Given the description of an element on the screen output the (x, y) to click on. 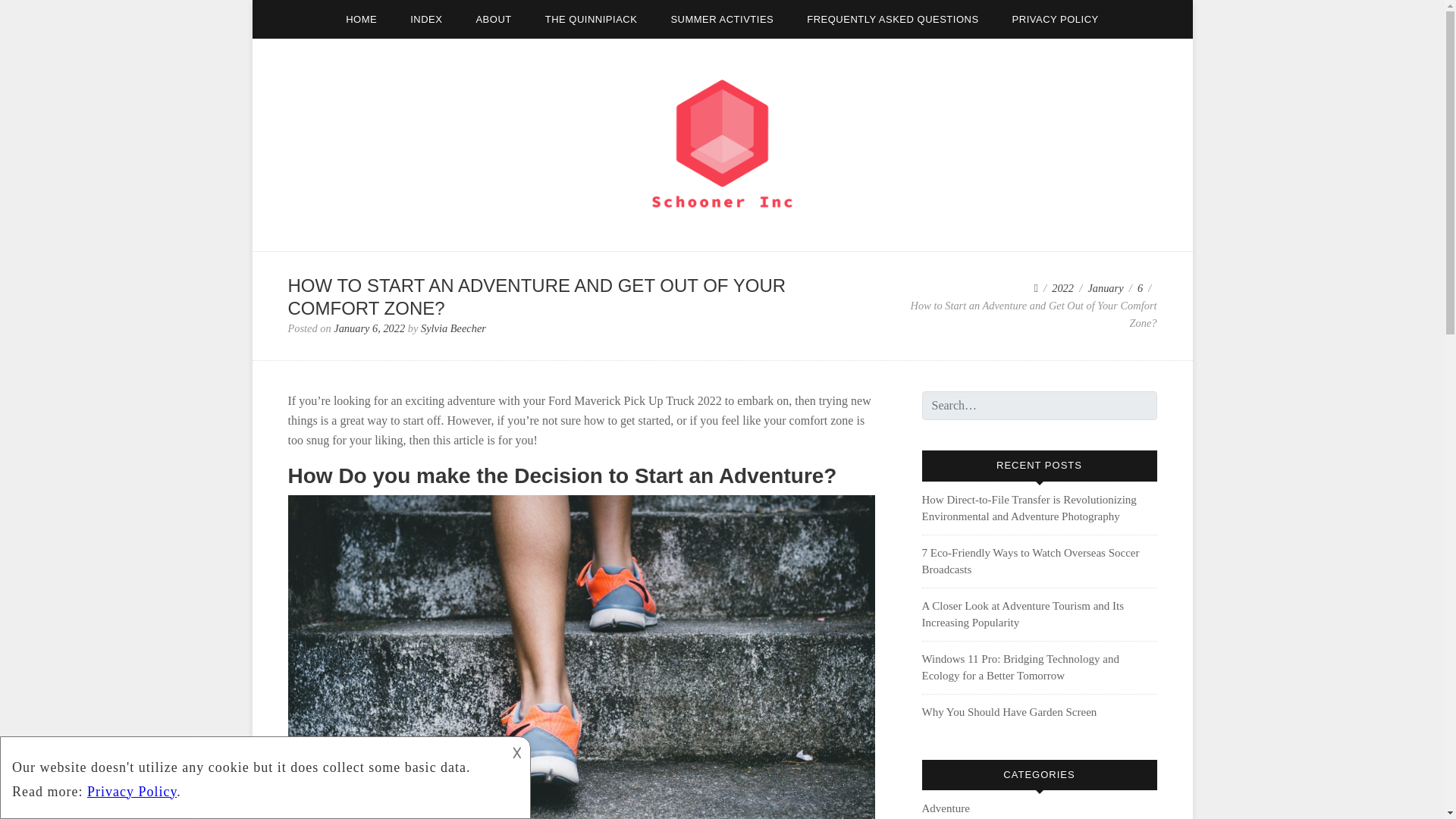
HOME (360, 19)
INDEX (425, 19)
FREQUENTLY ASKED QUESTIONS (892, 19)
SCHOONER INC (373, 239)
THE QUINNIPIACK (590, 19)
ABOUT (492, 19)
description (252, 775)
SUMMER ACTIVTIES (722, 19)
PRIVACY POLICY (1055, 19)
